Given the description of an element on the screen output the (x, y) to click on. 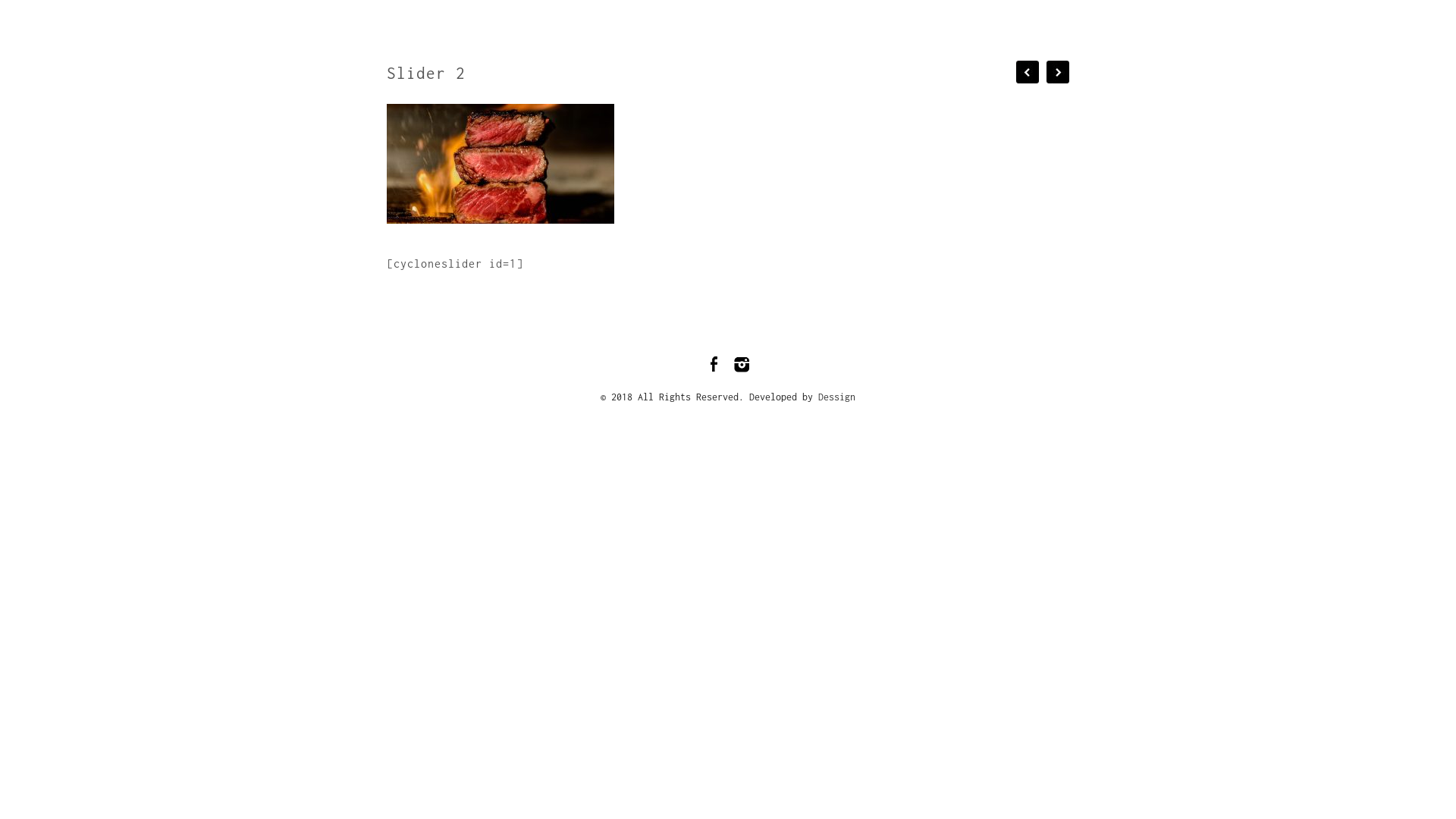
Dessign Element type: text (836, 396)
289 HIGH ST KEW | 03 9853 7535 Element type: text (1050, 19)
INSTAGRAM Element type: text (871, 19)
FACEBOOK Element type: text (777, 19)
